Given the description of an element on the screen output the (x, y) to click on. 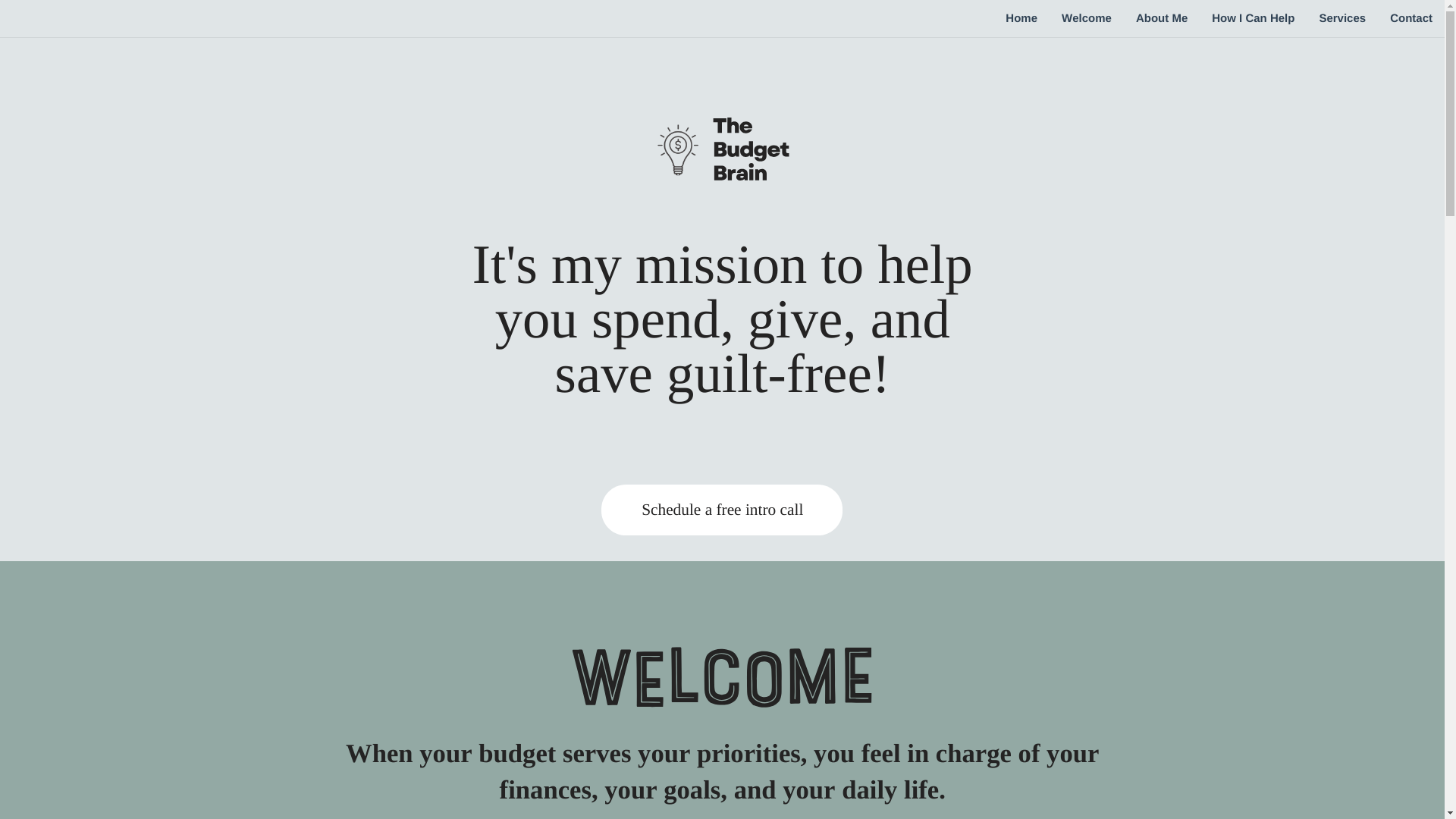
Services (1341, 18)
About Me (1161, 18)
Schedule a free intro call (722, 509)
Services (1341, 18)
About Me (1161, 18)
How I Can Help (1252, 18)
Home (1020, 18)
Home (1020, 18)
Welcome (1086, 18)
Welcome (1086, 18)
